Given the description of an element on the screen output the (x, y) to click on. 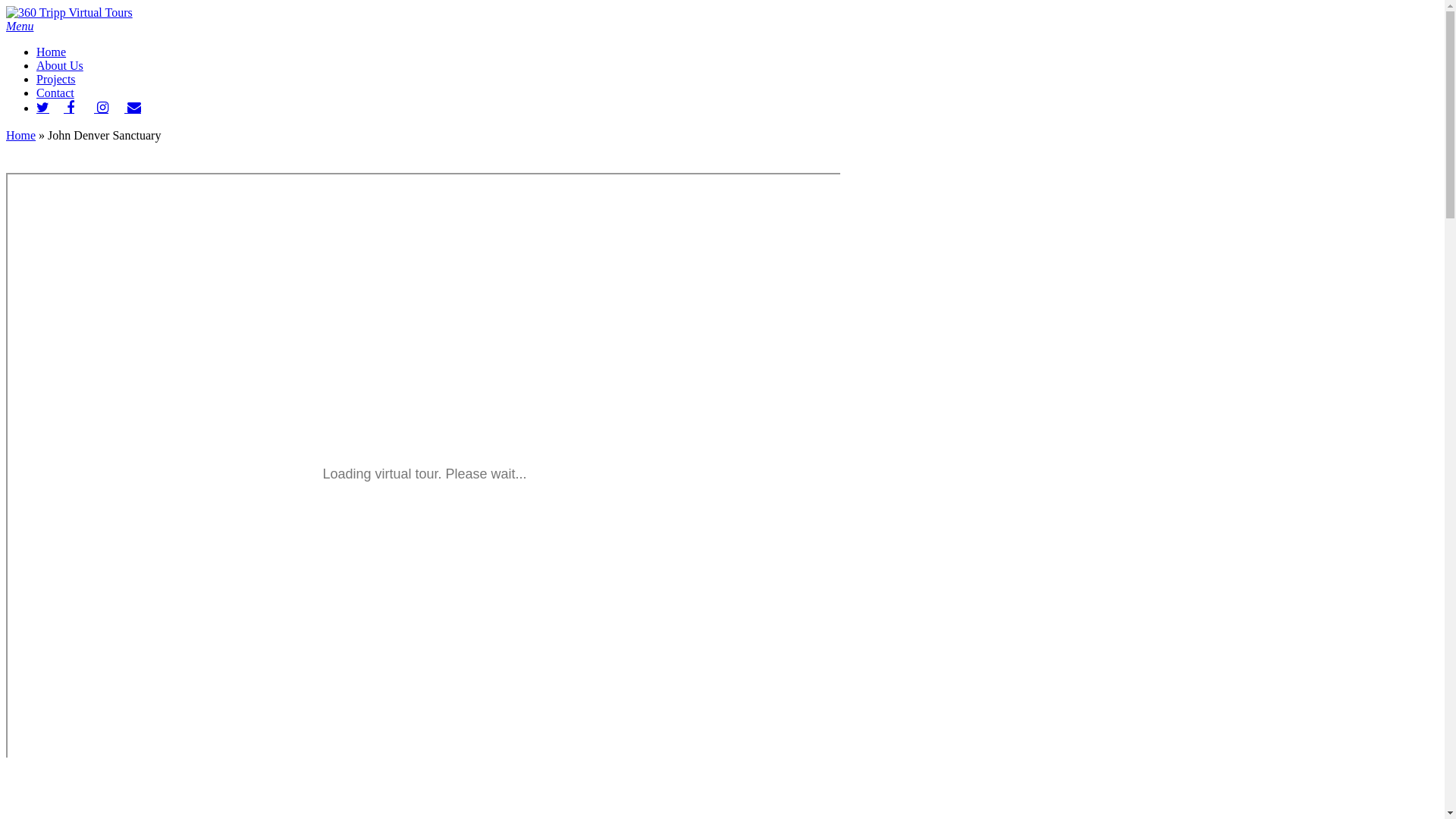
Menu Element type: text (19, 25)
Contact Element type: text (55, 92)
Projects Element type: text (55, 78)
About Us Element type: text (59, 65)
Home Element type: text (50, 51)
Home Element type: text (20, 134)
